Given the description of an element on the screen output the (x, y) to click on. 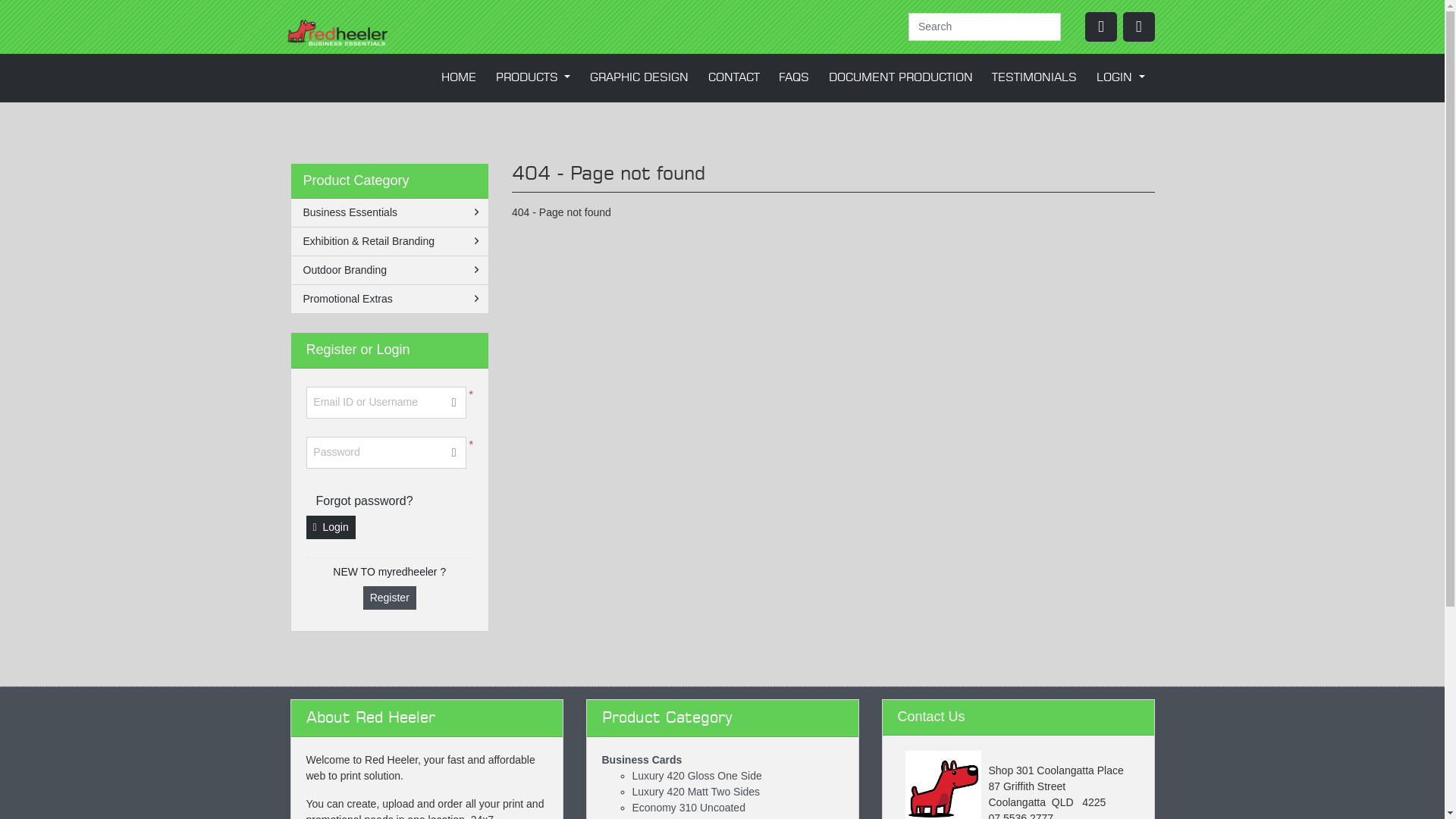
Luxury 420 Gloss One Side Element type: text (697, 775)
GRAPHIC DESIGN Element type: text (639, 77)
TESTIMONIALS Element type: text (1034, 77)
FAQS Element type: text (793, 77)
HOME Element type: text (458, 77)
PRODUCTS Element type: text (533, 77)
Register Element type: text (389, 597)
LOGIN Element type: text (1120, 77)
Luxury 420 Matt Two Sides Element type: text (696, 791)
Promotional Extras Element type: text (390, 299)
Login Element type: text (330, 527)
Outdoor Branding Element type: text (390, 270)
Business Cards Element type: text (642, 759)
Forgot password? Element type: text (364, 500)
Exhibition & Retail Branding Element type: text (390, 241)
Economy 310 Uncoated Element type: text (688, 807)
Business Essentials Element type: text (390, 212)
<i class='fal fa-unlock pr-1'></i> Login Element type: text (1127, 107)
CONTACT Element type: text (733, 77)
Login Element type: hover (1101, 26)
DOCUMENT PRODUCTION Element type: text (900, 77)
